Given the description of an element on the screen output the (x, y) to click on. 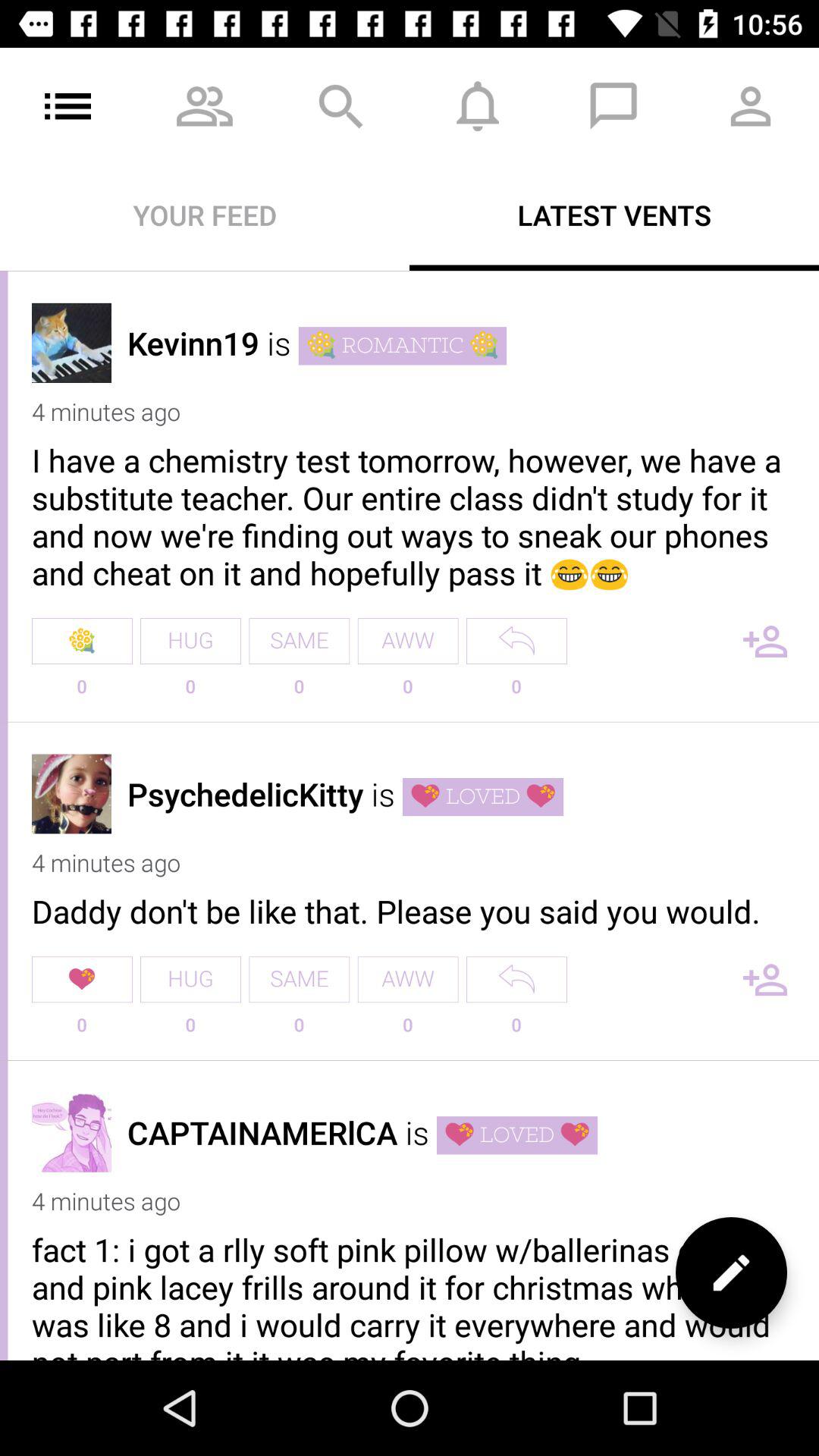
view profile (71, 793)
